Given the description of an element on the screen output the (x, y) to click on. 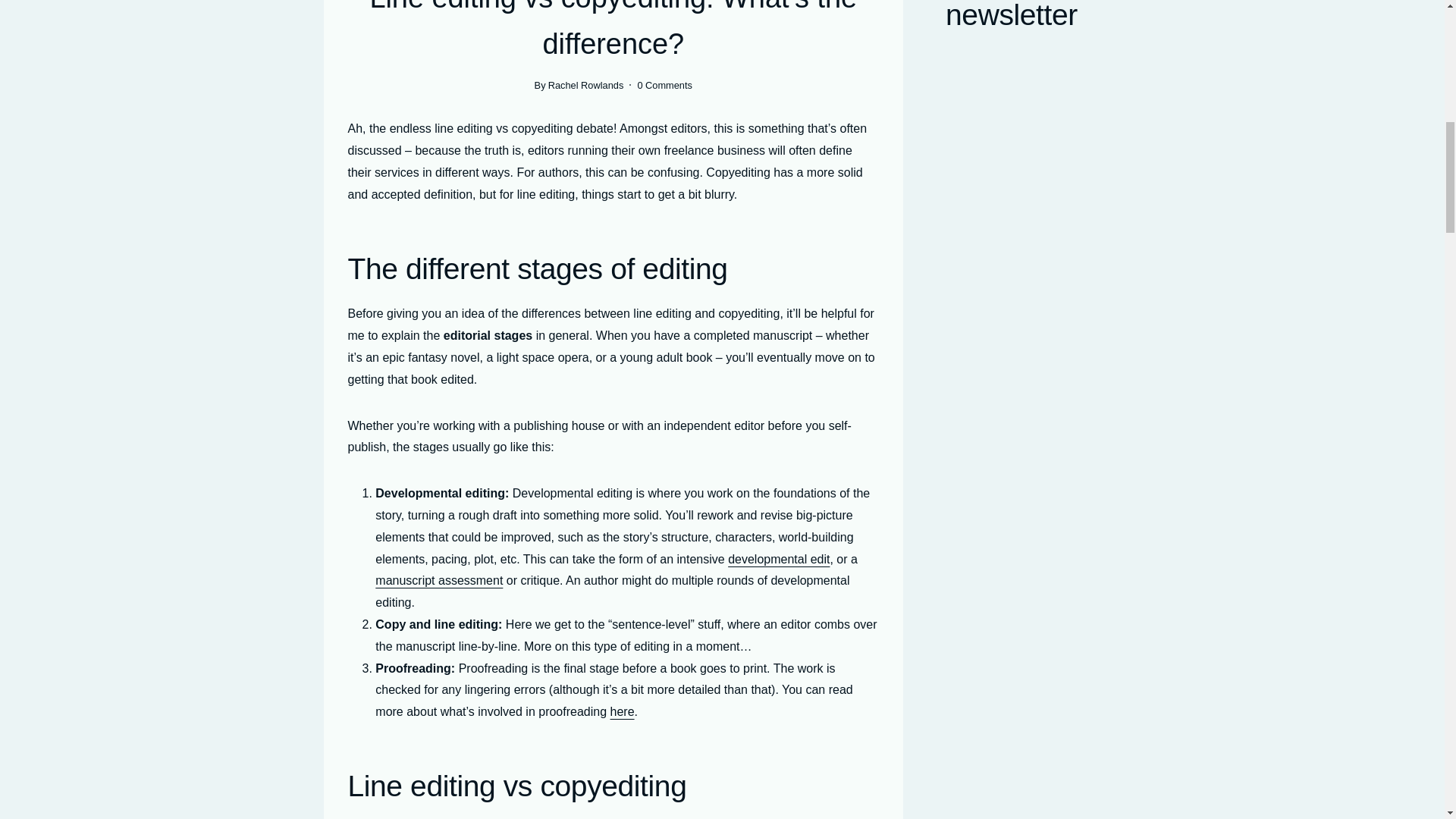
here (622, 711)
manuscript assessment (438, 580)
developmental edit (778, 558)
0 Comments (665, 85)
0 Comments (665, 85)
Rachel Rowlands (586, 84)
